Given the description of an element on the screen output the (x, y) to click on. 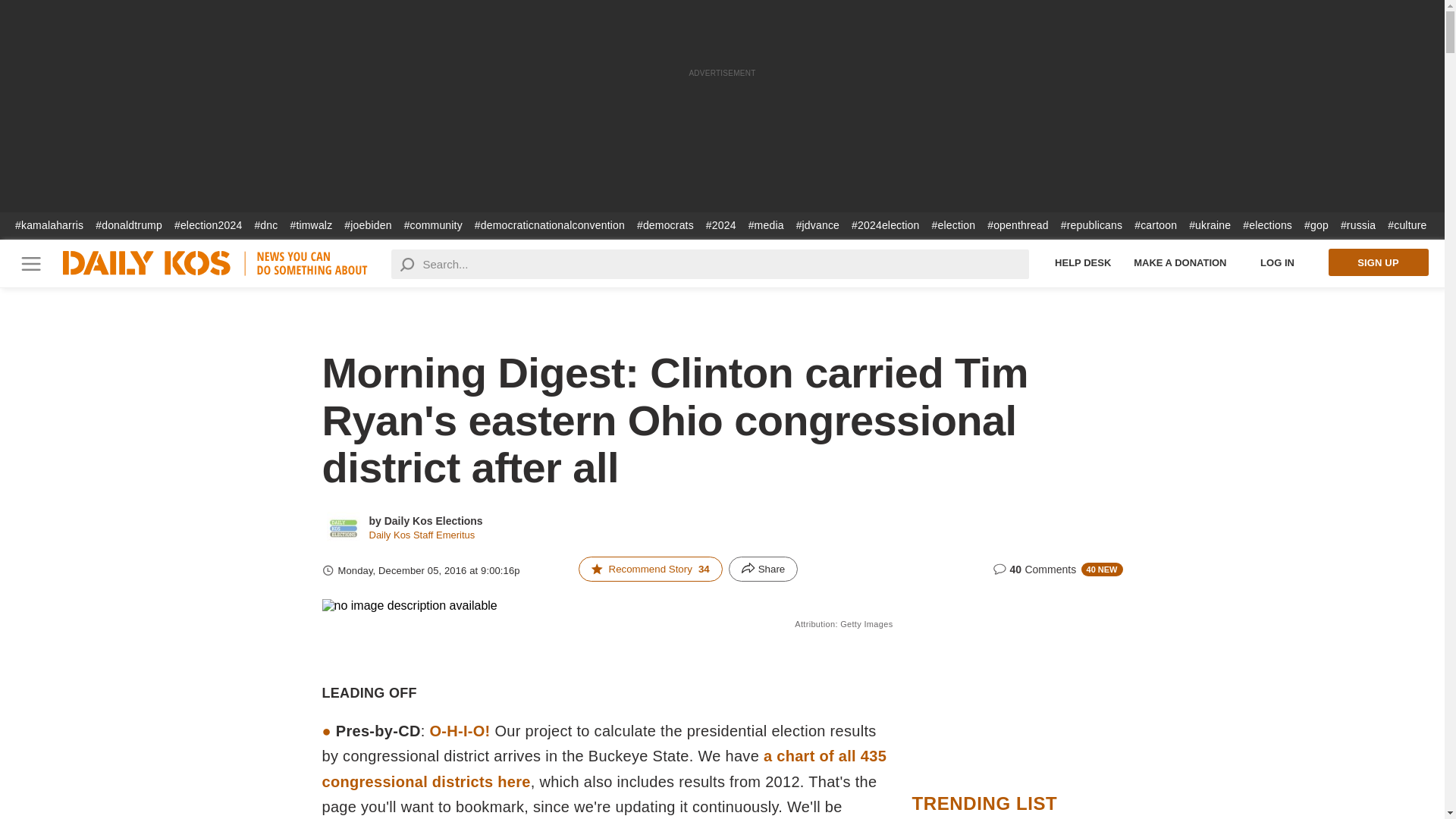
MAKE A DONATION (1179, 262)
Make a Donation (1179, 262)
Help Desk (1082, 262)
